Given the description of an element on the screen output the (x, y) to click on. 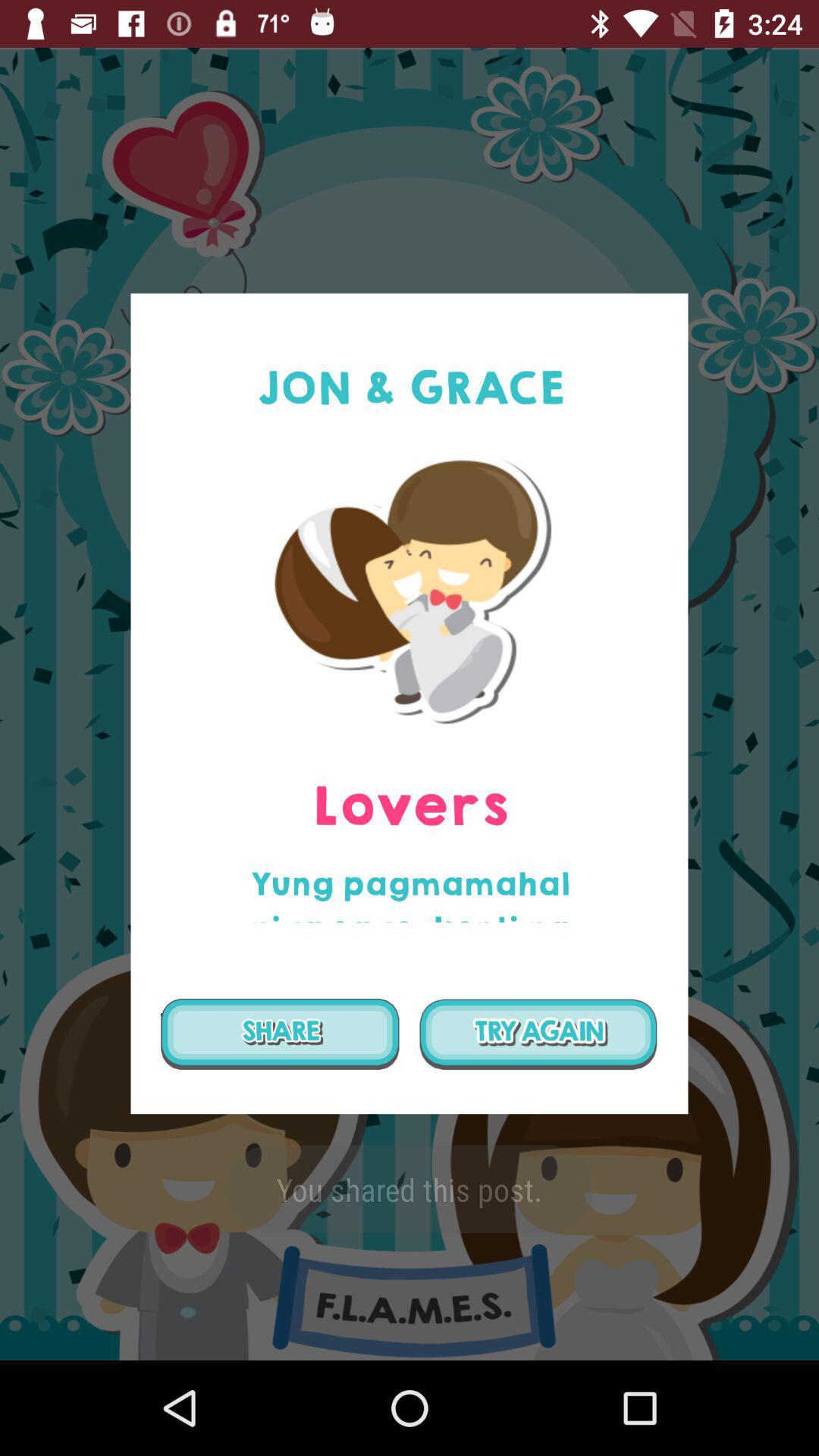
restart the action (538, 1034)
